Given the description of an element on the screen output the (x, y) to click on. 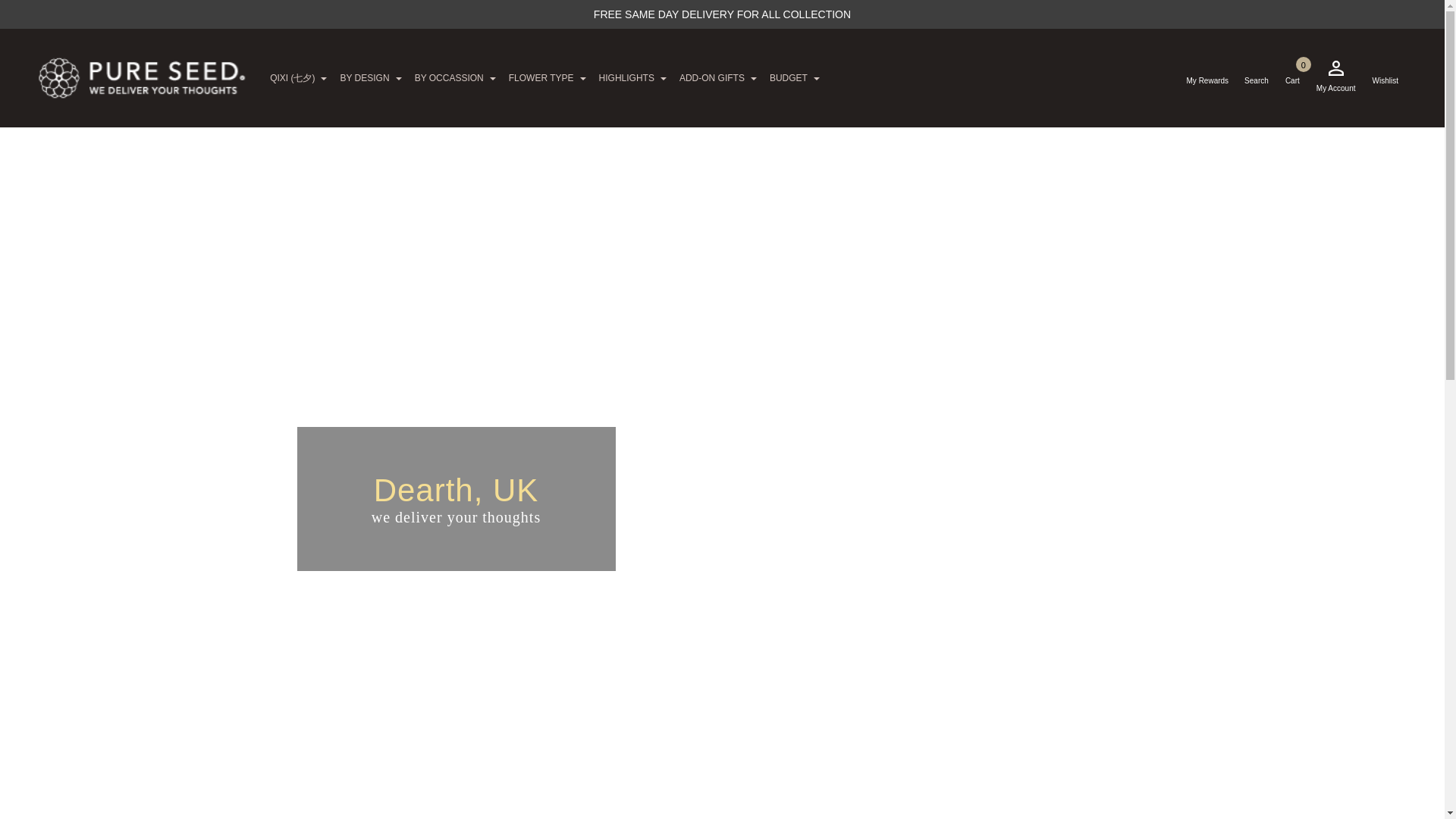
View your shopping cart (1292, 77)
